Given the description of an element on the screen output the (x, y) to click on. 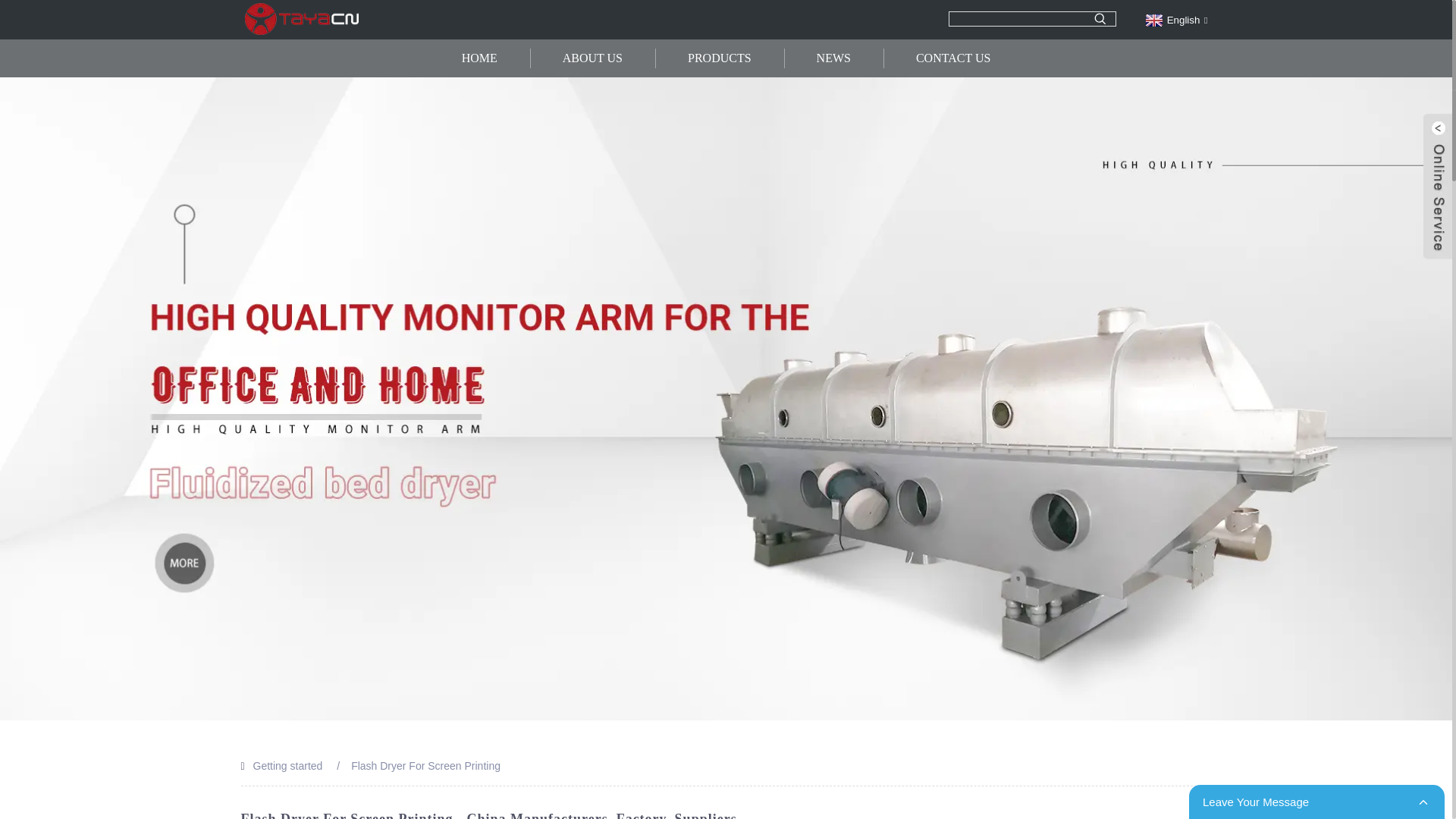
Flash Dryer For Screen Printing (425, 766)
PRODUCTS (719, 58)
CONTACT US (952, 58)
English (1174, 19)
ABOUT US (592, 58)
NEWS (833, 58)
Getting started (288, 766)
HOME (479, 58)
